Given the description of an element on the screen output the (x, y) to click on. 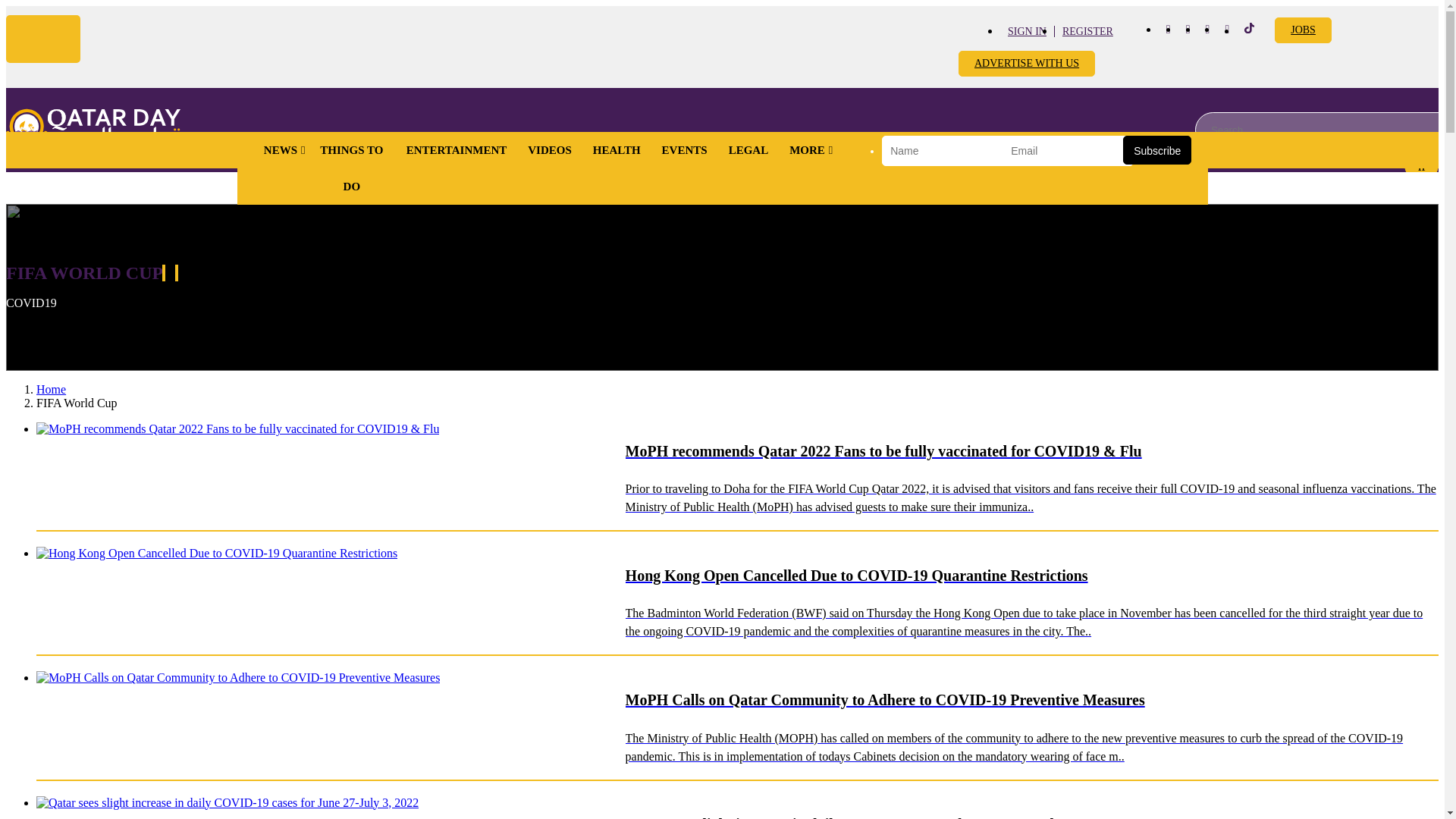
ENTERTAINMENT (457, 149)
ADVERTISE WITH US (1026, 63)
Youtube (1207, 29)
SIGN IN (1027, 30)
Instagram (1187, 29)
Advertise (1303, 30)
Register (1087, 30)
Advertise (1026, 63)
EVENTS (683, 149)
Home (92, 129)
